Given the description of an element on the screen output the (x, y) to click on. 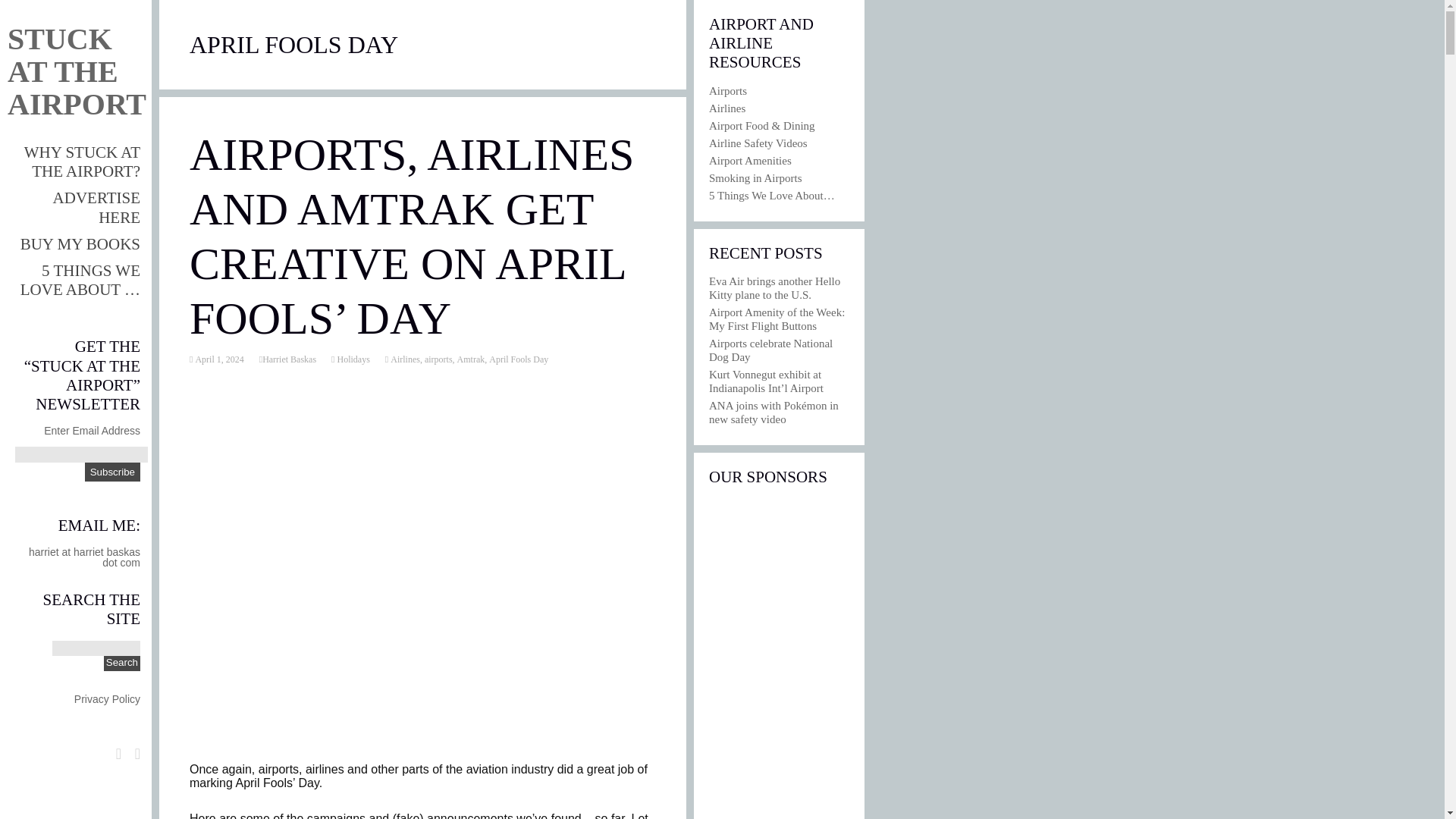
April Fools Day (518, 358)
WHY STUCK AT THE AIRPORT? (81, 161)
STUCK AT THE AIRPORT (77, 60)
Subscribe (111, 471)
harriet at harriet baskas dot com (84, 557)
airports (438, 358)
April 1, 2024 (217, 358)
Amtrak (470, 358)
Airlines (404, 358)
Privacy Policy (106, 698)
